Given the description of an element on the screen output the (x, y) to click on. 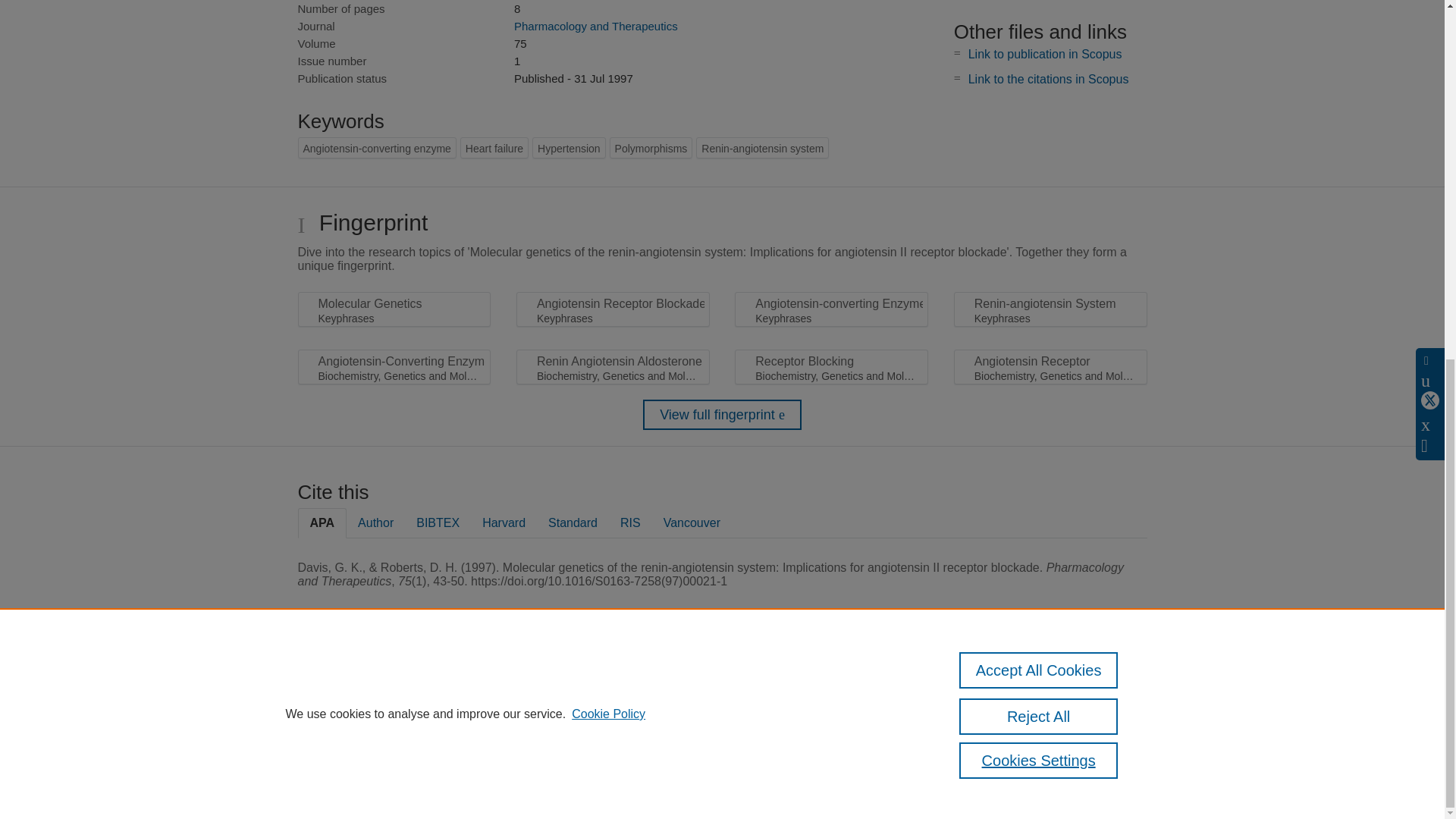
Pharmacology and Therapeutics (595, 25)
Link to publication in Scopus (1045, 53)
View full fingerprint (722, 414)
Link to the citations in Scopus (1048, 78)
